Given the description of an element on the screen output the (x, y) to click on. 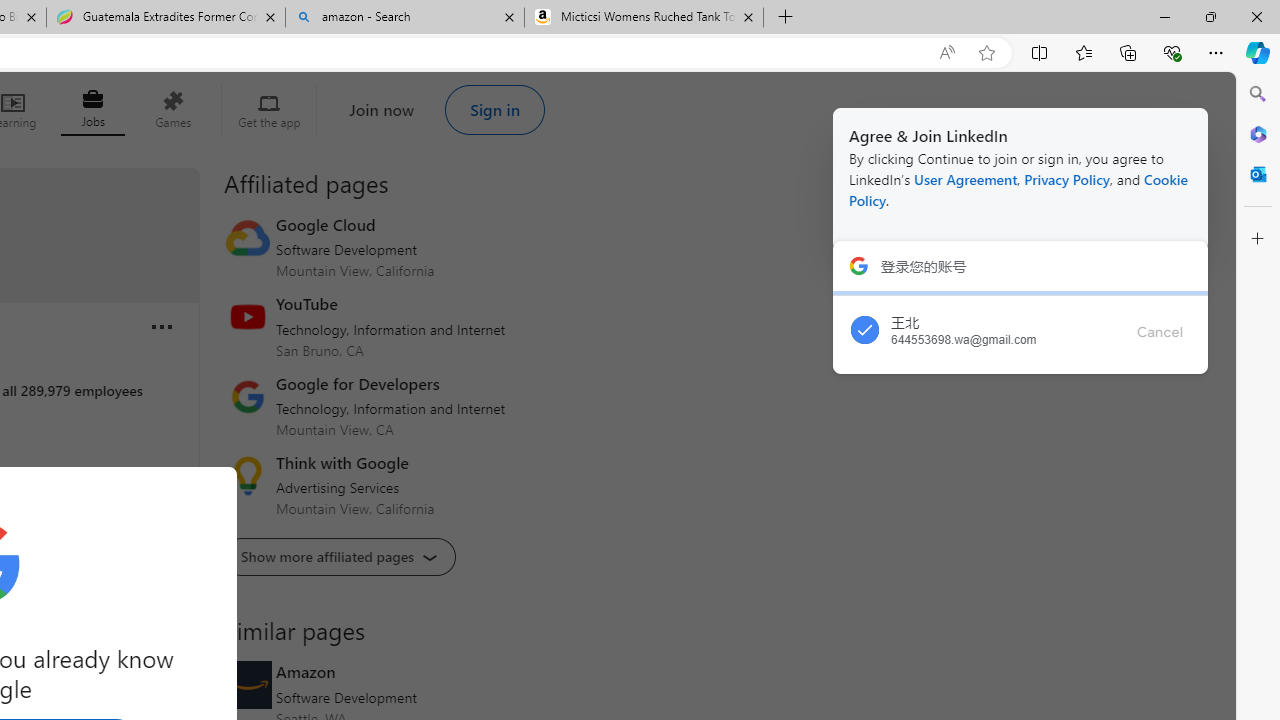
amazon - Search (404, 17)
